Given the description of an element on the screen output the (x, y) to click on. 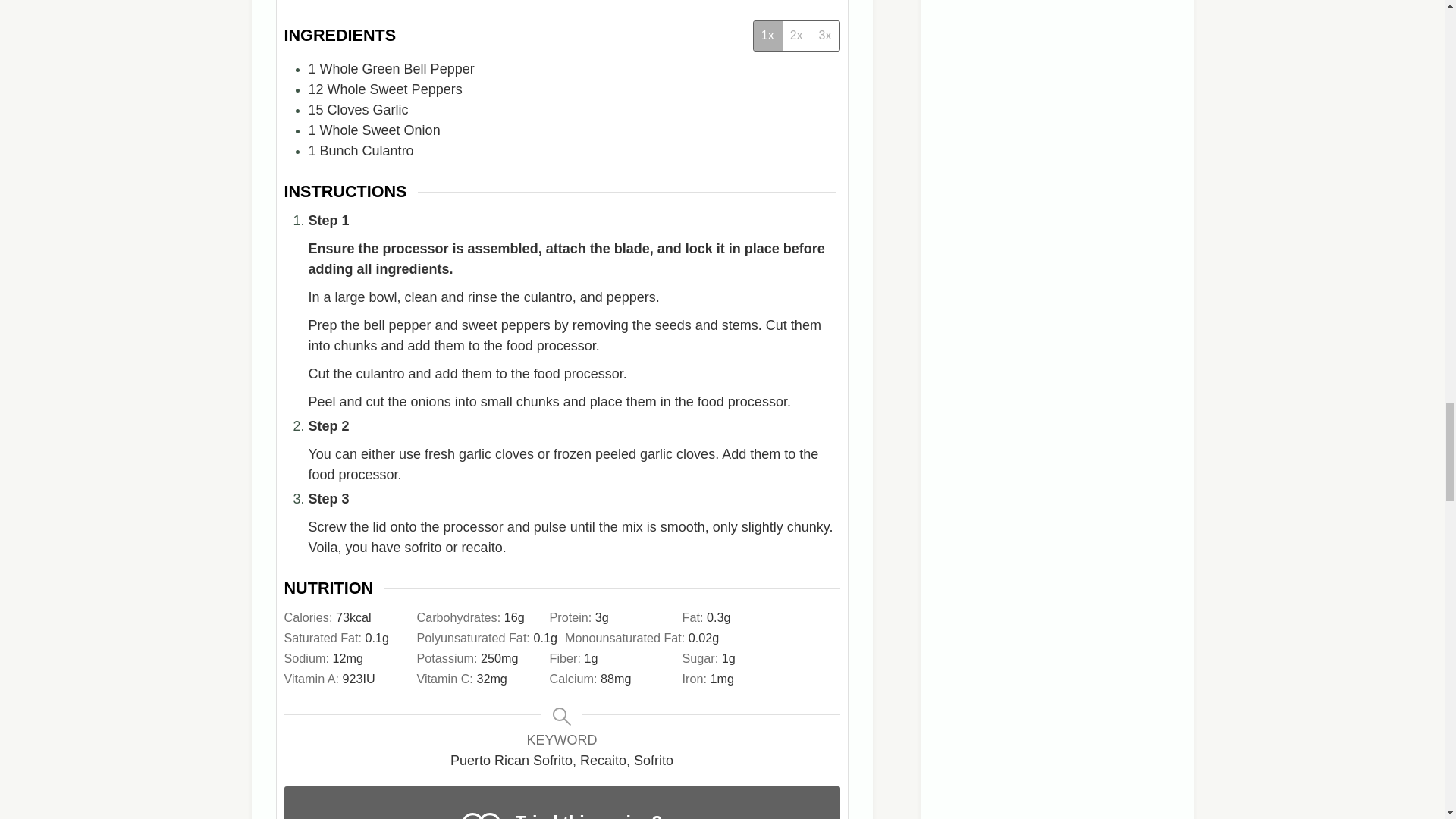
2x (795, 35)
3x (825, 35)
1x (767, 35)
